Given the description of an element on the screen output the (x, y) to click on. 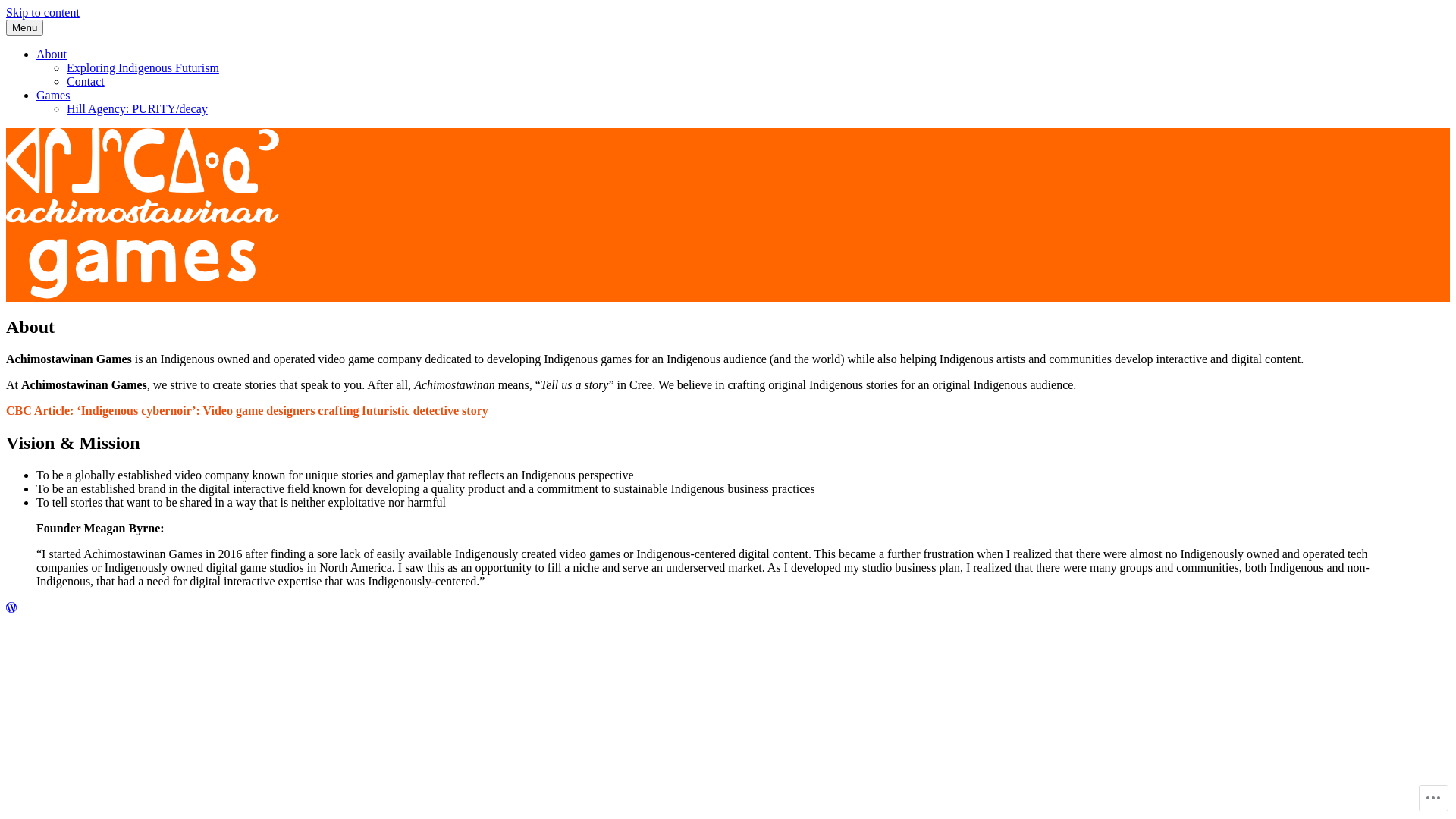
Contact Element type: text (85, 81)
Achimostawinan Games Element type: text (65, 319)
Skip to content Element type: text (42, 12)
Hill Agency: PURITY/decay Element type: text (136, 108)
Create a website or blog at WordPress.com Element type: text (11, 607)
About Element type: text (51, 53)
Menu Element type: text (24, 27)
Games Element type: text (52, 94)
Exploring Indigenous Futurism Element type: text (142, 67)
